Given the description of an element on the screen output the (x, y) to click on. 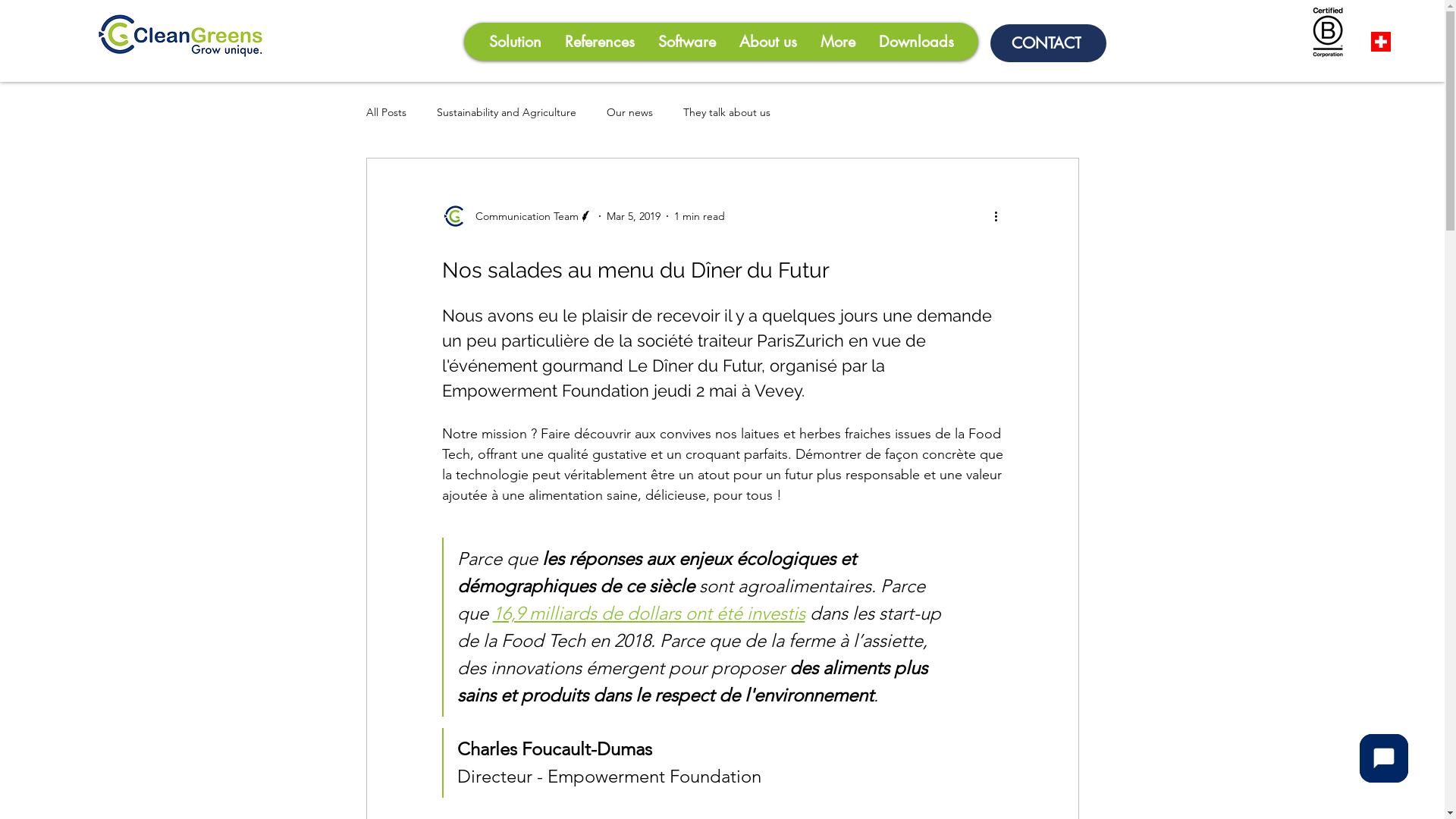
They talk about us Element type: text (725, 112)
Software Element type: text (686, 41)
References Element type: text (598, 41)
Downloads Element type: text (915, 41)
Sustainability and Agriculture Element type: text (506, 112)
Chatbot Element type: hover (1383, 757)
Our news Element type: text (629, 112)
More Element type: text (837, 41)
CONTACT Element type: text (1048, 43)
All Posts Element type: text (385, 112)
Communication Team Element type: text (516, 215)
Solution Element type: text (514, 41)
About us Element type: text (766, 41)
